Given the description of an element on the screen output the (x, y) to click on. 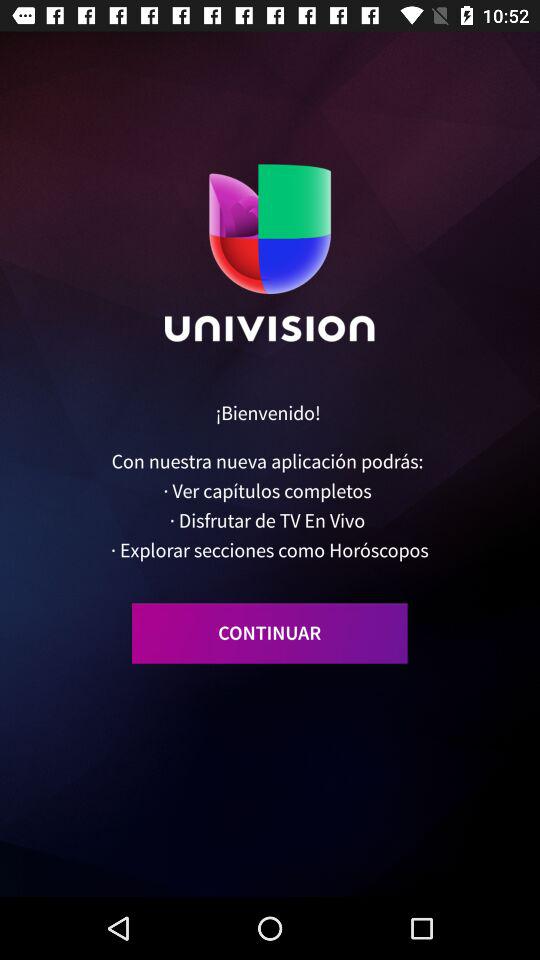
turn on continuar icon (269, 633)
